Given the description of an element on the screen output the (x, y) to click on. 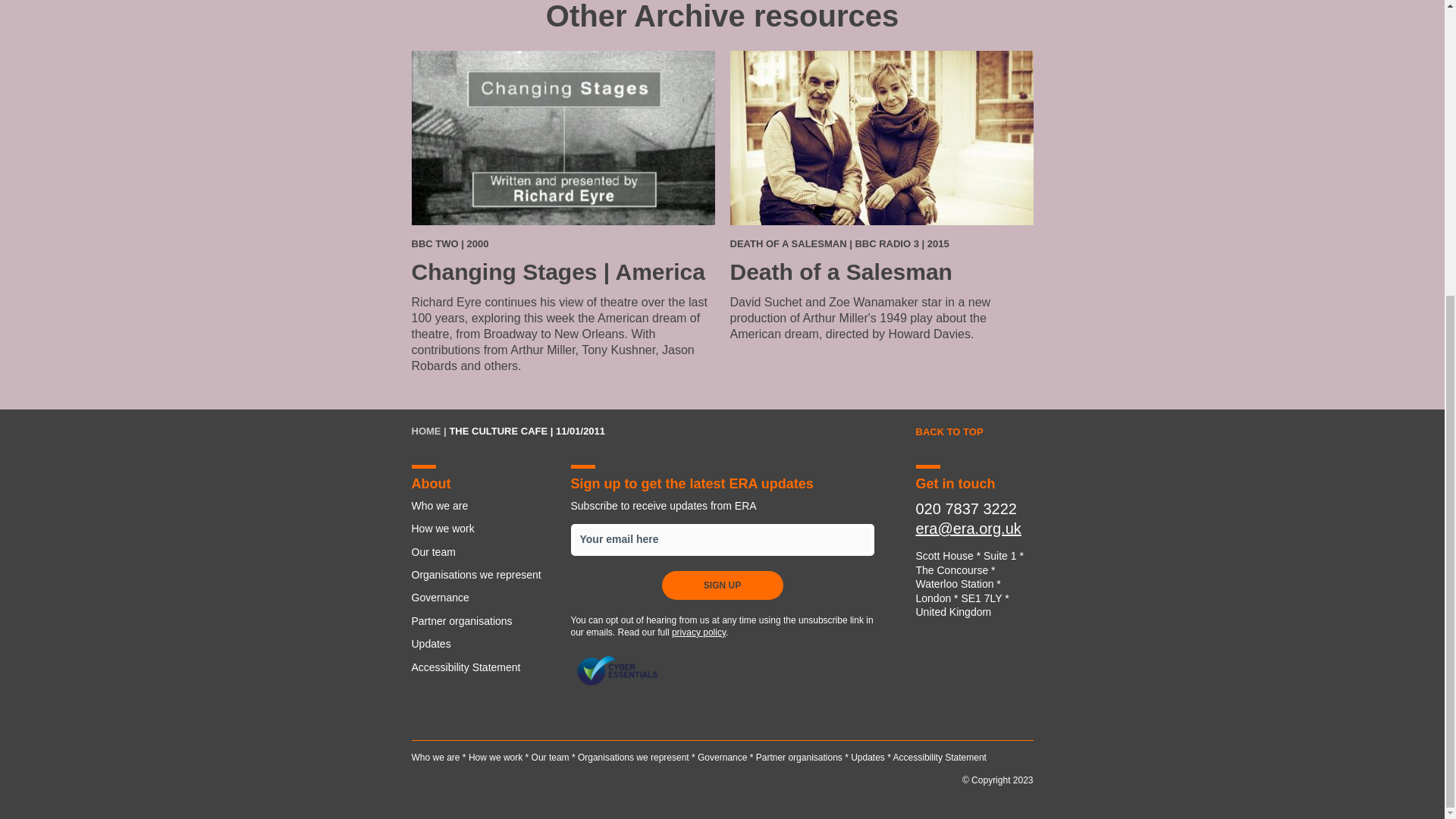
Partner organisations (482, 620)
Governance (721, 757)
HOME (425, 430)
Governance (482, 597)
Organisations we represent (633, 757)
Partner organisations (799, 757)
Who we are (435, 757)
Sign Up (722, 584)
How we work (495, 757)
Accessibility Statement (482, 667)
Accessibility Statement (940, 757)
Organisations we represent (482, 574)
Updates (482, 643)
Sign Up (722, 584)
Updates (867, 757)
